Given the description of an element on the screen output the (x, y) to click on. 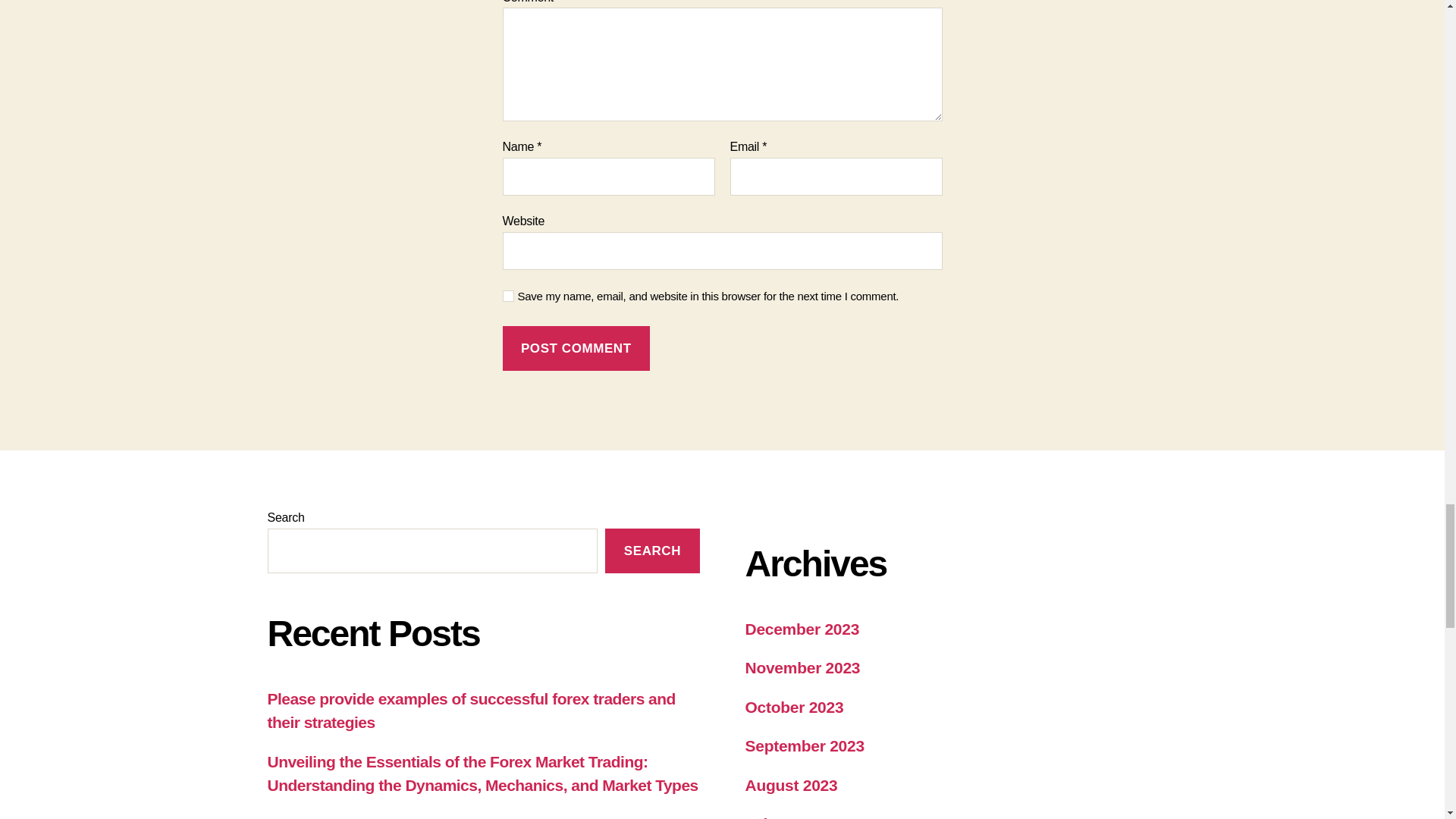
October 2023 (793, 706)
September 2023 (803, 745)
December 2023 (801, 628)
yes (507, 296)
SEARCH (651, 550)
August 2023 (790, 784)
November 2023 (802, 667)
Post Comment (575, 348)
